Given the description of an element on the screen output the (x, y) to click on. 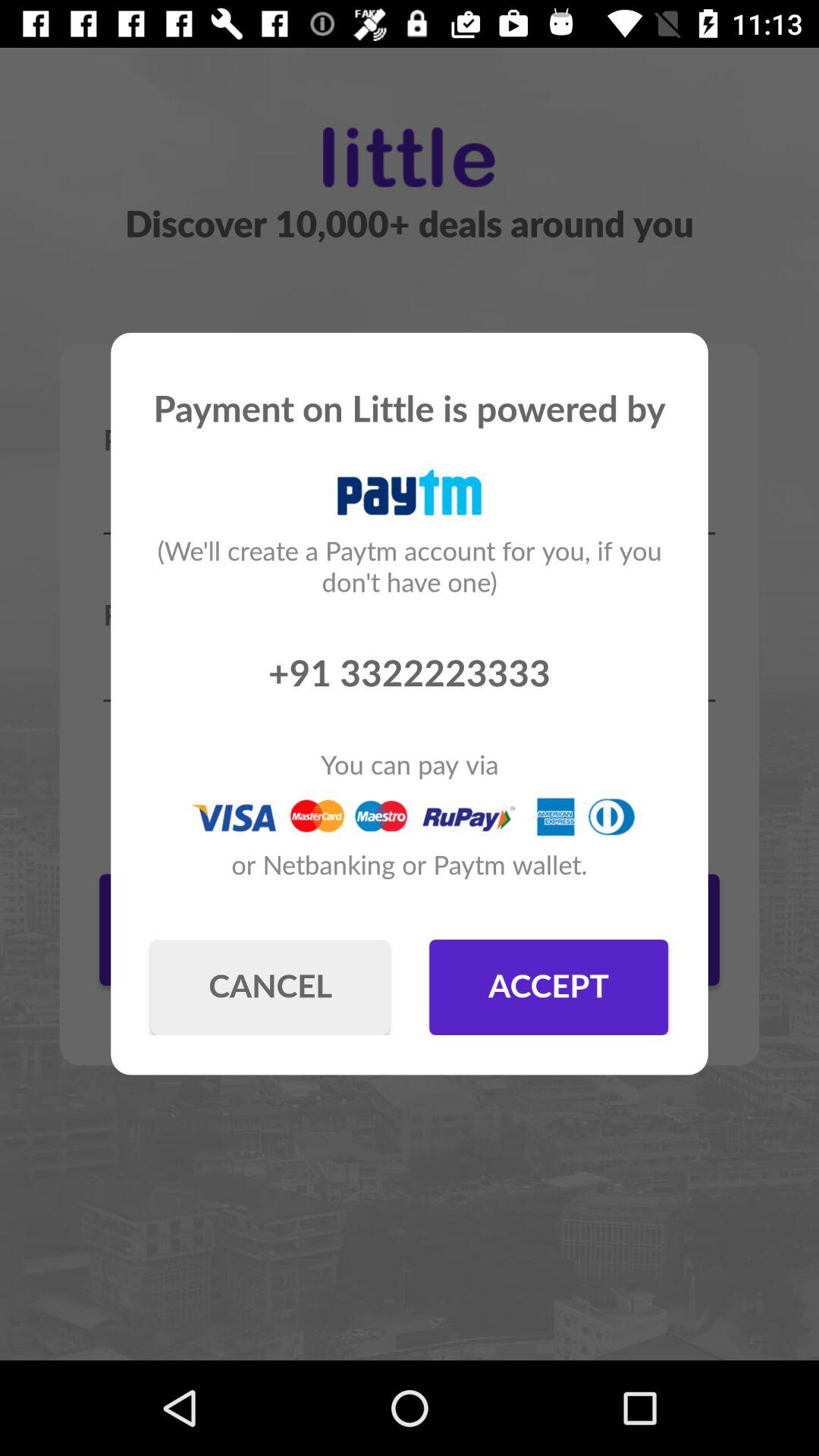
press item next to the cancel button (548, 987)
